Given the description of an element on the screen output the (x, y) to click on. 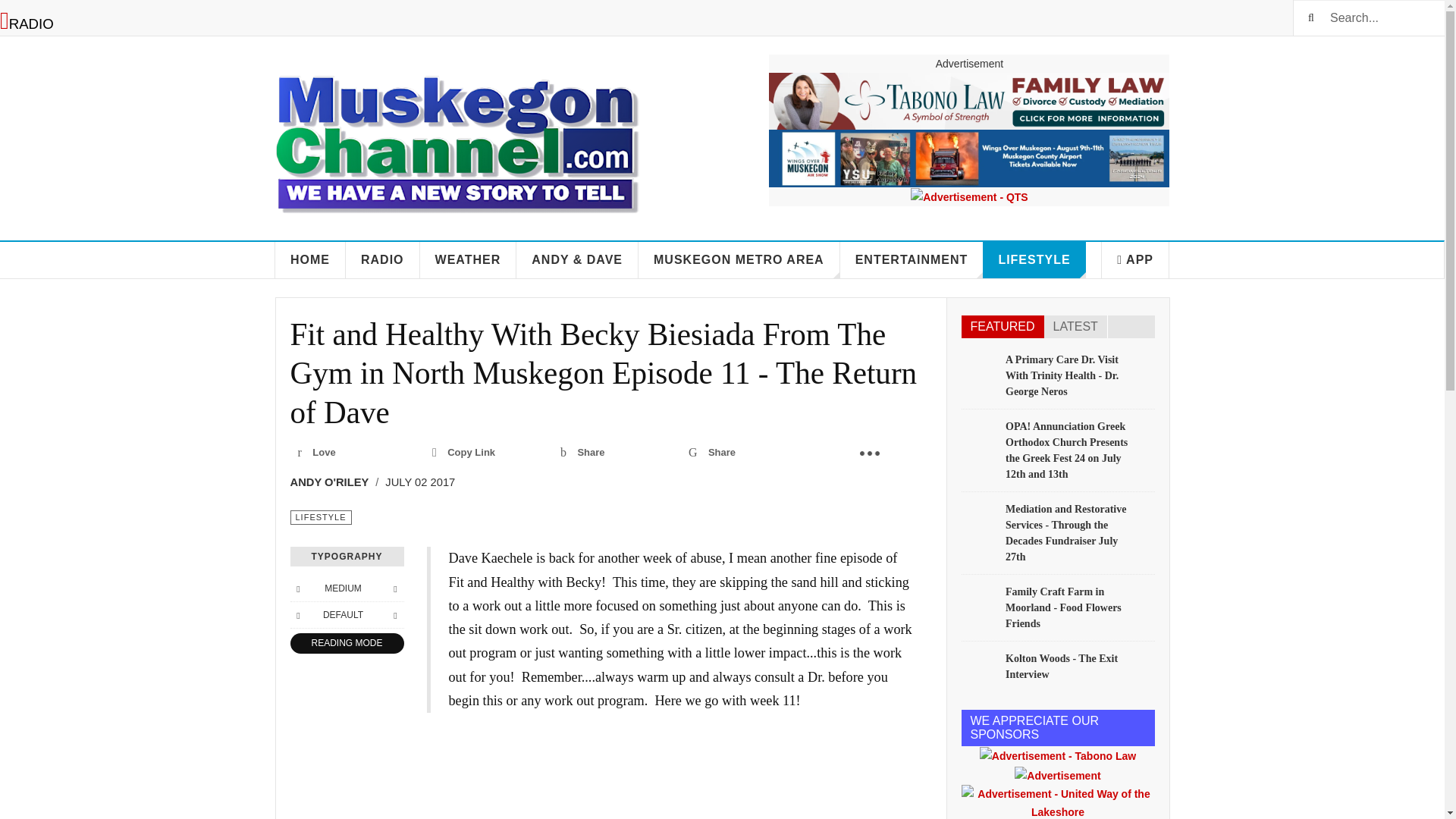
WEATHER (468, 259)
Wings Over Muskegon 24 (968, 157)
RADIO (383, 259)
Tabono Law (968, 100)
Play Online Radio (26, 24)
The Muskegon Channel (457, 135)
MUSKEGON METRO AREA (739, 259)
HOME (310, 259)
